Given the description of an element on the screen output the (x, y) to click on. 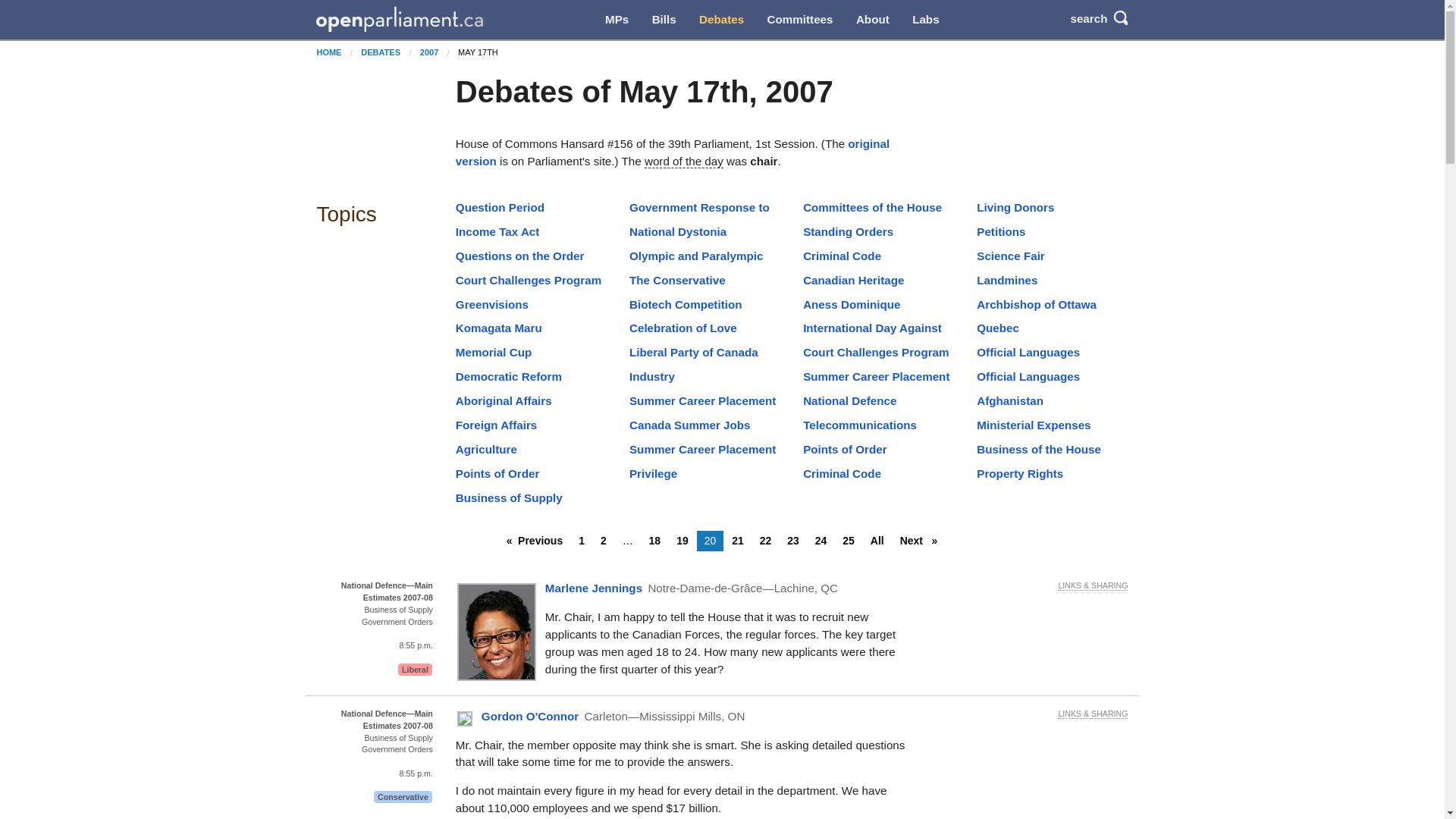
original version (672, 152)
Greenvisions (491, 304)
International Day Against Homophobia (872, 336)
The Conservative Government (676, 288)
Debates (721, 19)
Landmines (1006, 279)
Memorial Cup (493, 351)
DEBATES (380, 51)
Petitions (1000, 231)
Aness Dominique (851, 304)
Celebration of Love (682, 327)
2007 (429, 51)
Science Fair (1010, 255)
Criminal Code (841, 255)
Biotech Competition (685, 304)
